Given the description of an element on the screen output the (x, y) to click on. 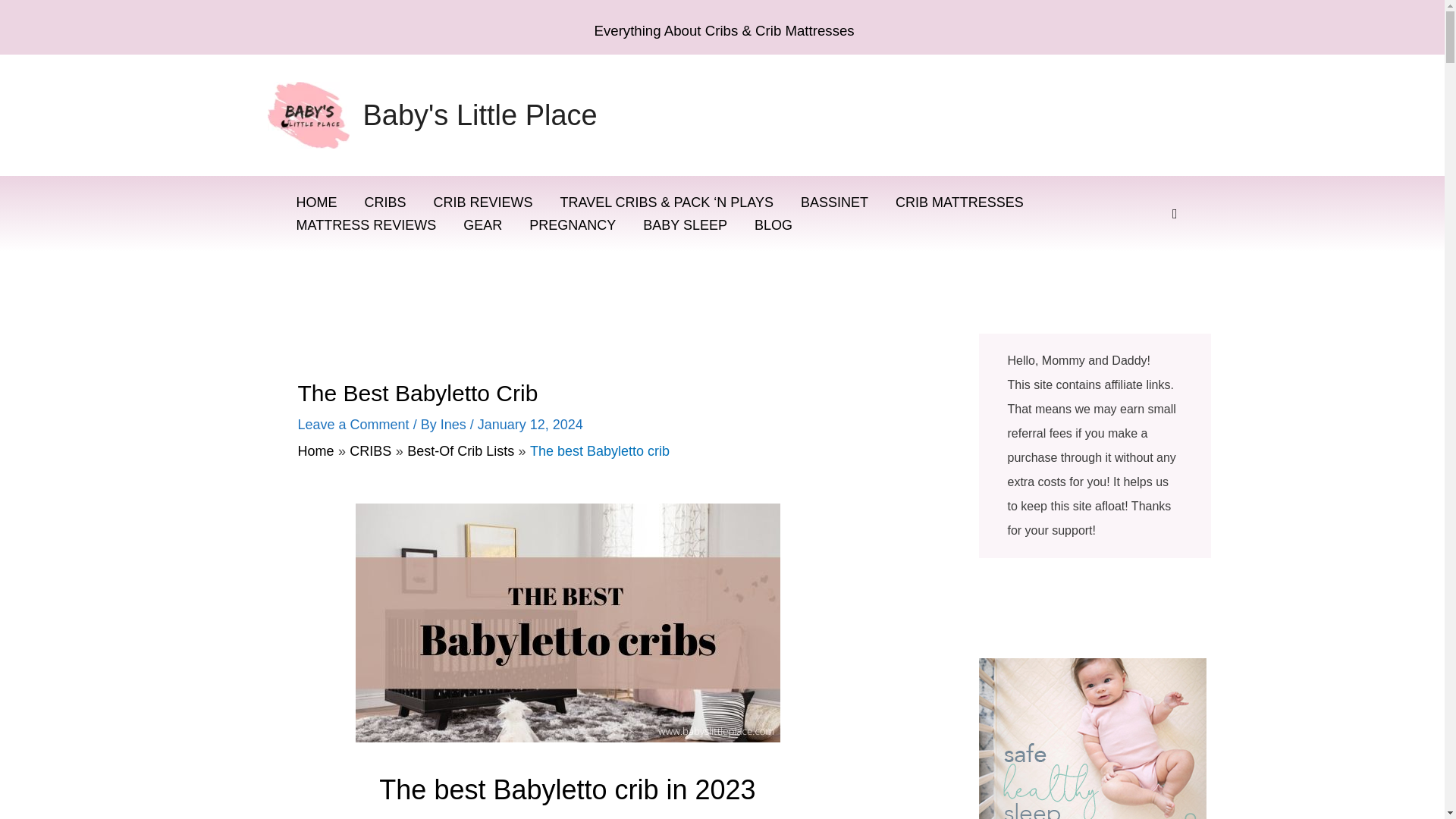
CRIBS (384, 201)
Baby's Little Place (479, 115)
HOME (316, 201)
View all posts by Ines (455, 424)
